Given the description of an element on the screen output the (x, y) to click on. 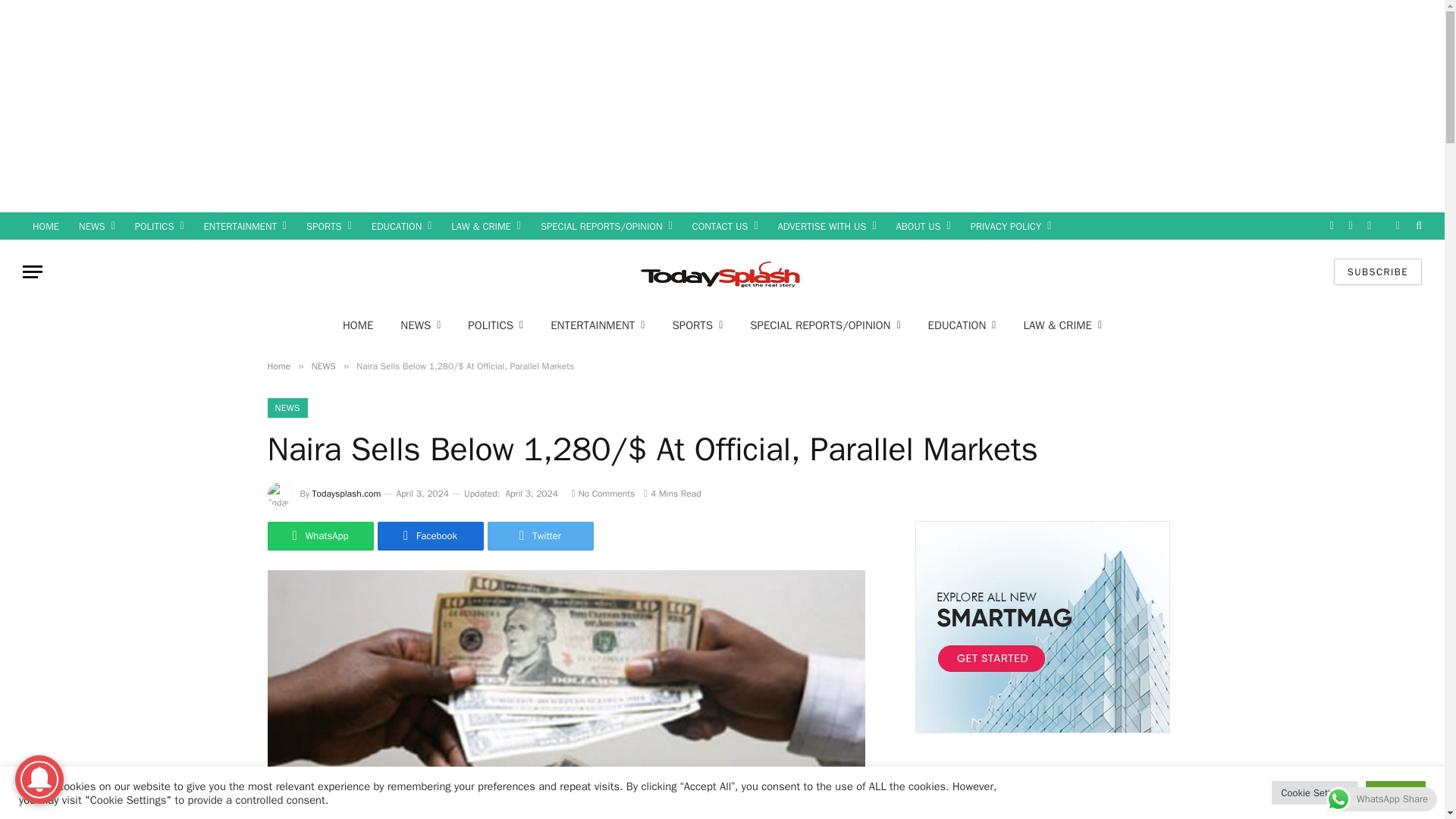
Switch to Dark Design - easier on eyes. (1397, 225)
POLITICS (495, 324)
Posts by Todaysplash.com (347, 493)
ADVERTISE WITH US (826, 225)
CONTACT US (725, 225)
POLITICS (159, 225)
ENTERTAINMENT (245, 225)
HOME (358, 324)
Today Splash-Your No 1 Community Newspaper (721, 272)
Share on Twitter (539, 535)
ABOUT US (923, 225)
PRIVACY POLICY (1010, 225)
ENTERTAINMENT (597, 324)
SUBSCRIBE (1377, 271)
